Given the description of an element on the screen output the (x, y) to click on. 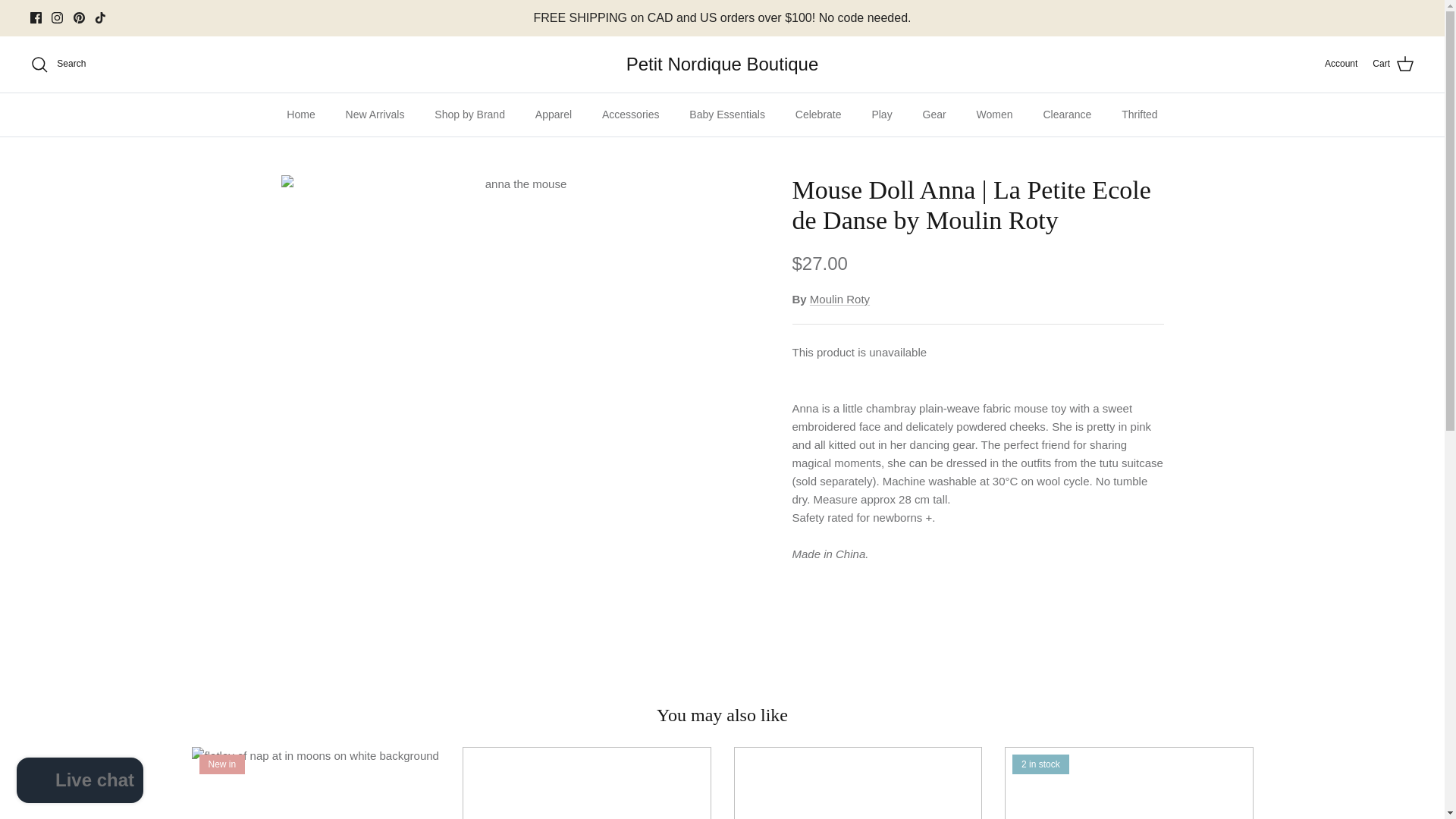
Instagram (56, 17)
Facebook (36, 17)
Home (301, 114)
Pinterest (79, 17)
Petit Nordique Boutique (722, 63)
Petit Nordique Boutique (722, 63)
Instagram (56, 17)
Shop by Brand (469, 114)
Cart (1393, 64)
Pinterest (79, 17)
